Given the description of an element on the screen output the (x, y) to click on. 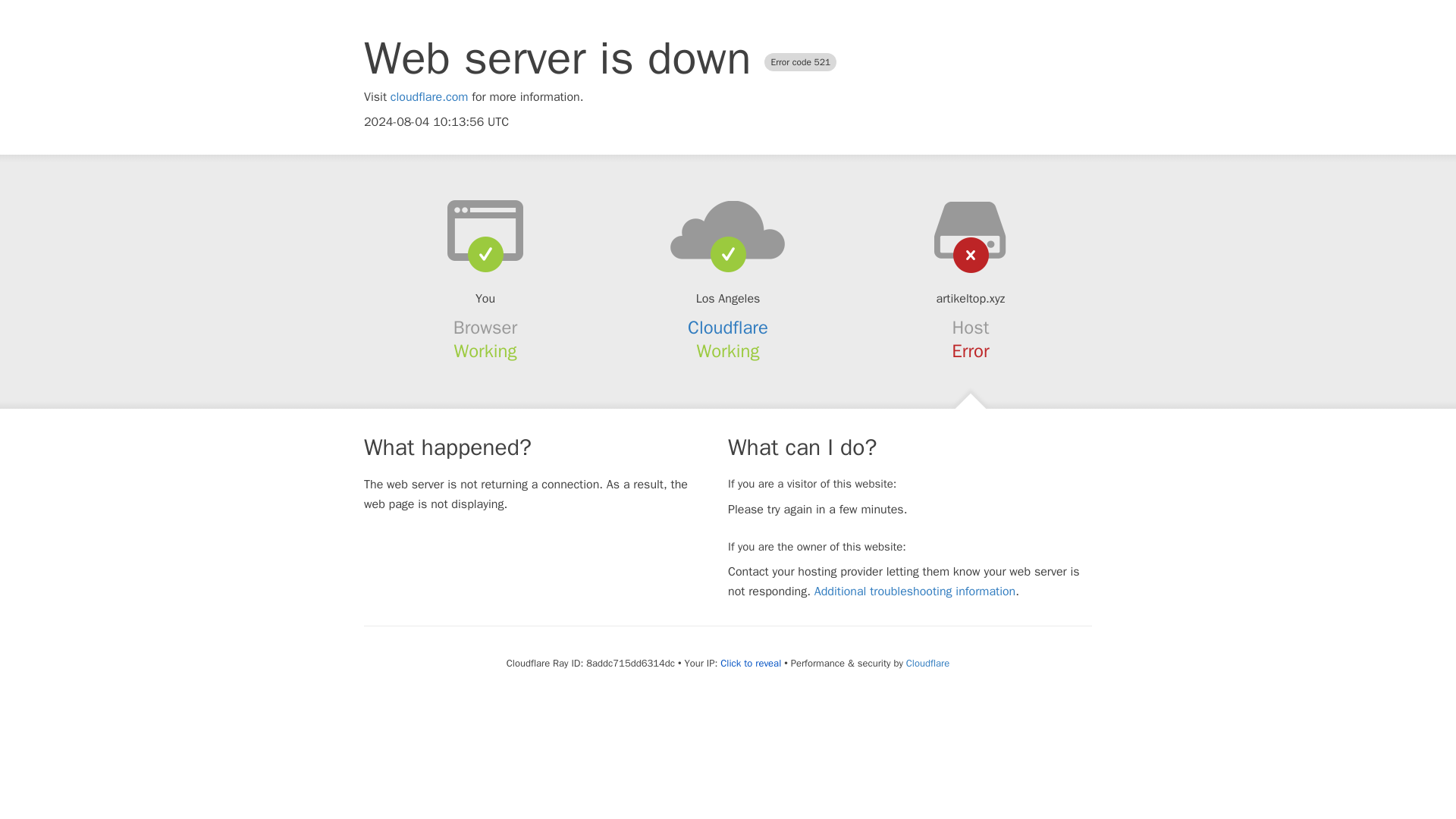
Click to reveal (750, 663)
cloudflare.com (429, 96)
Additional troubleshooting information (913, 590)
Cloudflare (927, 662)
Cloudflare (727, 327)
